Given the description of an element on the screen output the (x, y) to click on. 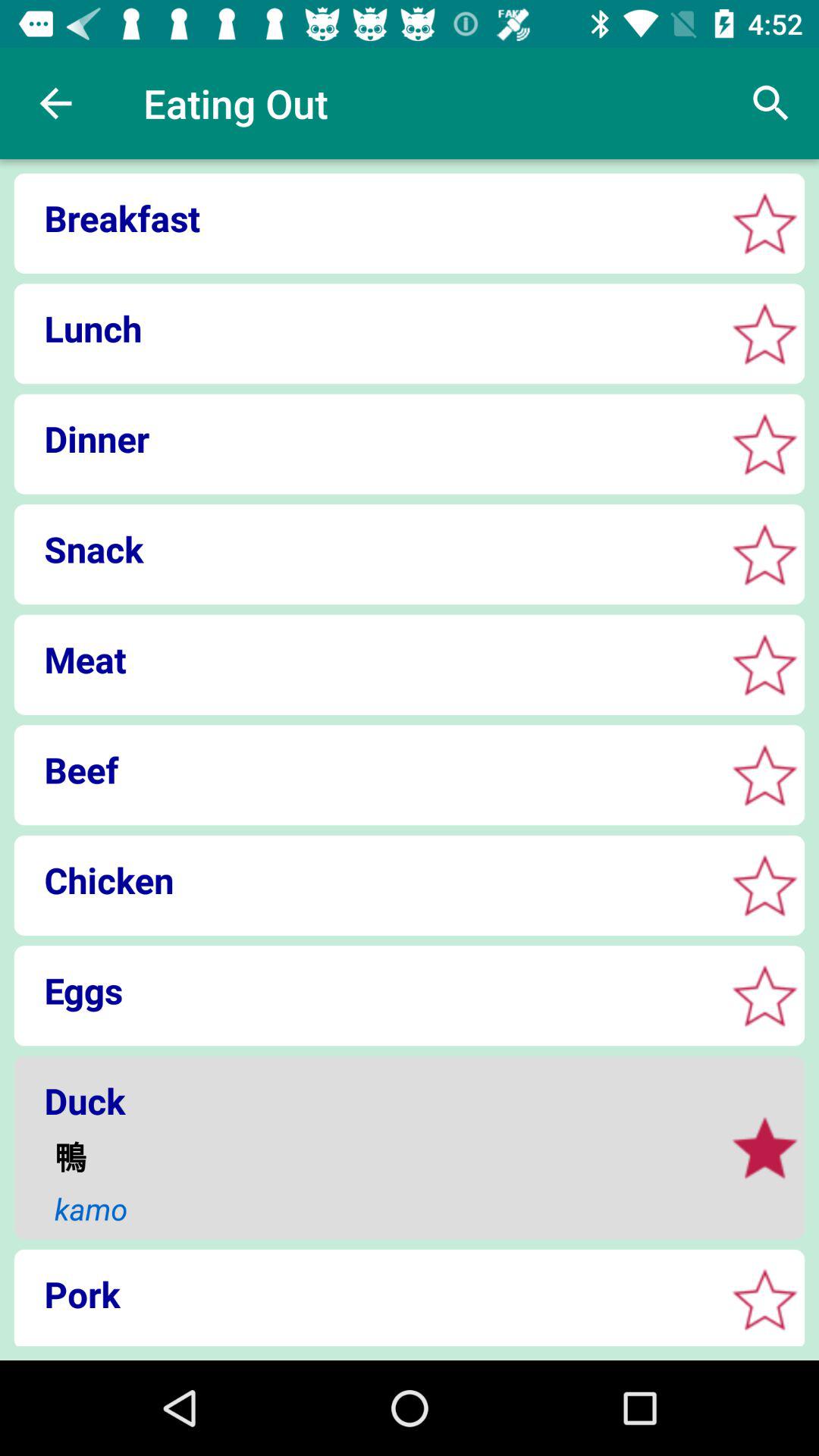
turn off the icon above chicken (364, 769)
